Given the description of an element on the screen output the (x, y) to click on. 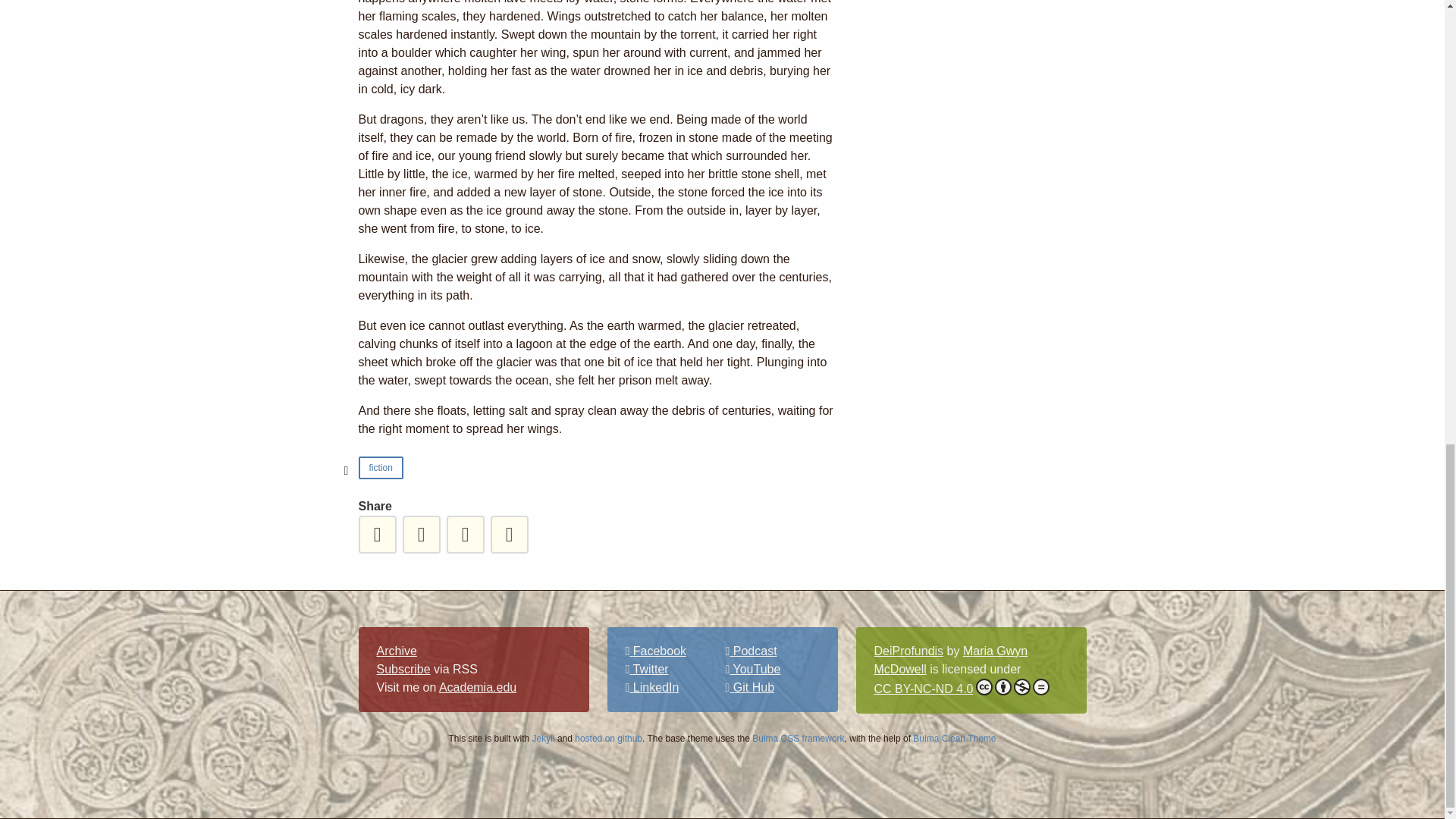
CC BY-NC-ND 4.0 (960, 688)
Facebook (654, 650)
Twitter (646, 668)
hosted on github (608, 738)
Subscribe (402, 668)
Bulma Clean Theme (953, 738)
LinkedIn (651, 686)
Bulma CSS framework (798, 738)
Podcast (750, 650)
fiction (380, 467)
Git Hub (749, 686)
Jekyll (543, 738)
Academia.edu (477, 686)
Maria Gwyn McDowell (950, 659)
DeiProfundis (908, 650)
